Given the description of an element on the screen output the (x, y) to click on. 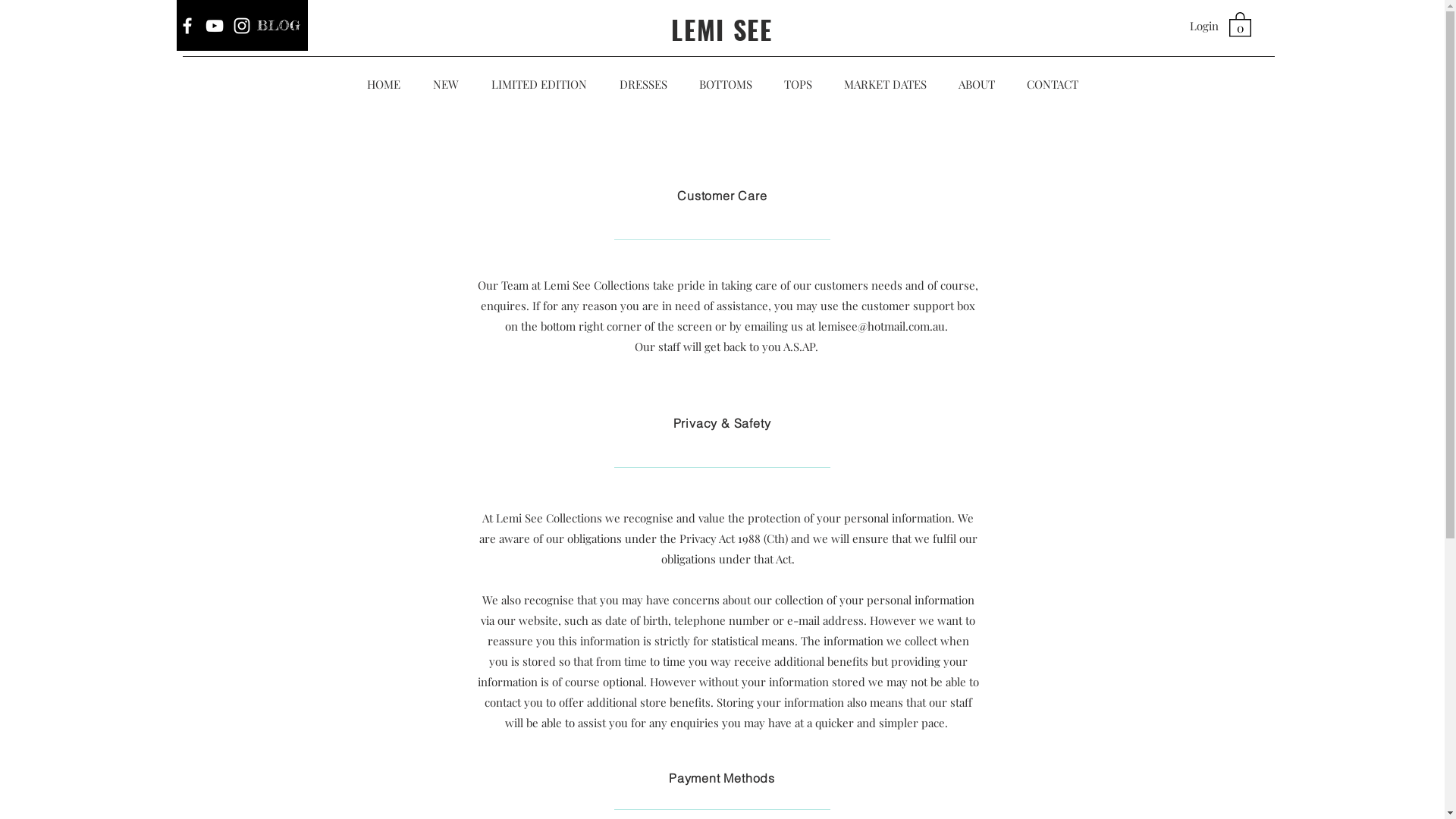
lemisee@hotmail.com.au Element type: text (881, 325)
BLOG Element type: text (278, 25)
DRESSES Element type: text (643, 84)
BOTTOMS Element type: text (724, 84)
ABOUT Element type: text (975, 84)
MARKET DATES Element type: text (885, 84)
0 Element type: text (1239, 23)
CONTACT Element type: text (1051, 84)
LEMI SEE Element type: text (721, 28)
TOPS Element type: text (797, 84)
Login Element type: text (1203, 25)
HOME Element type: text (383, 84)
LIMITED EDITION Element type: text (538, 84)
NEW Element type: text (446, 84)
